Given the description of an element on the screen output the (x, y) to click on. 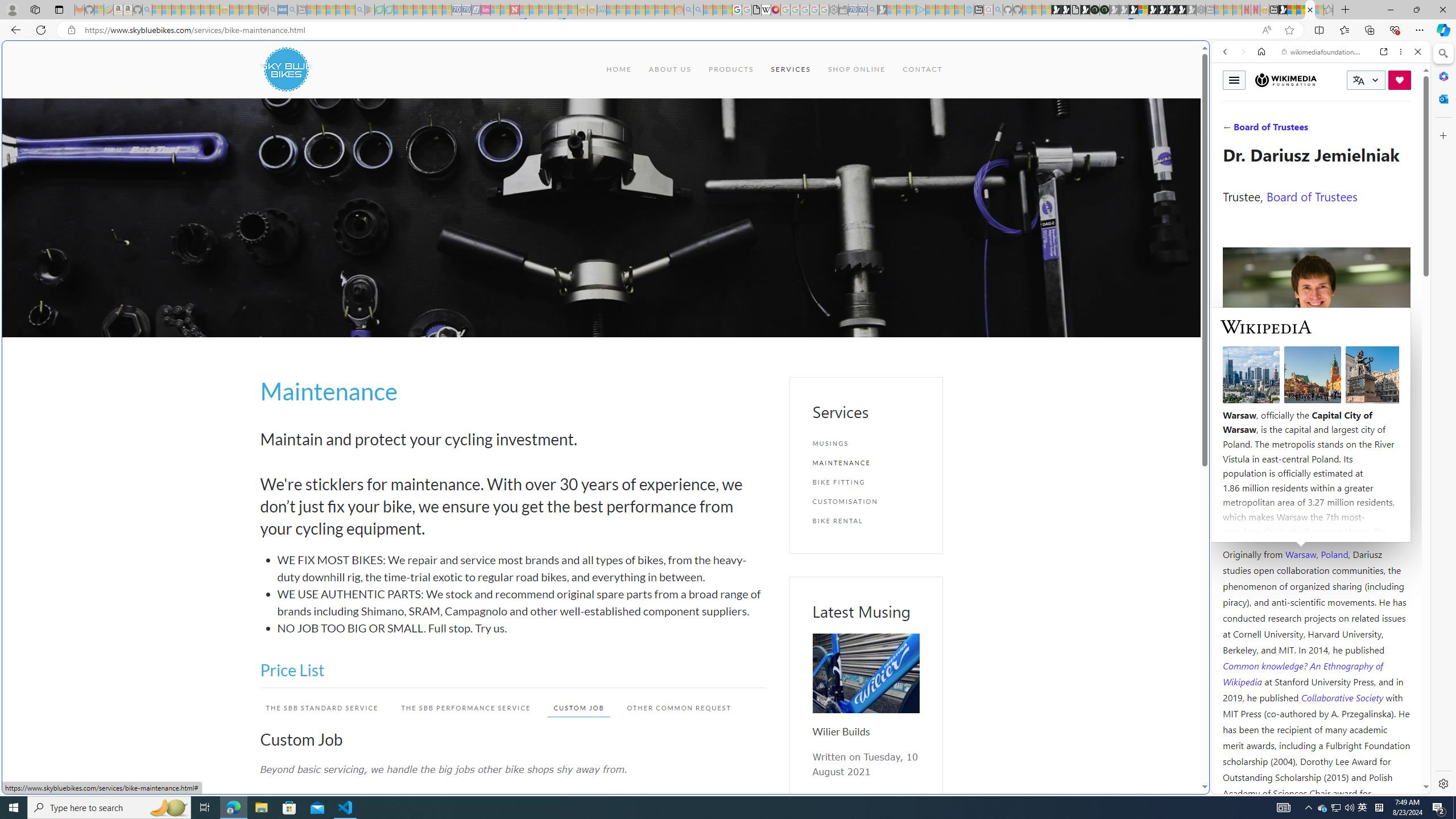
NO JOB TOO BIG OR SMALL. Full stop. Try us. (521, 628)
CONTACT (922, 68)
wikimediafoundation.org (1323, 51)
google_privacy_policy_zh-CN.pdf (1118, 683)
Search or enter web address (922, 108)
Pets - MSN - Sleeping (340, 9)
